Given the description of an element on the screen output the (x, y) to click on. 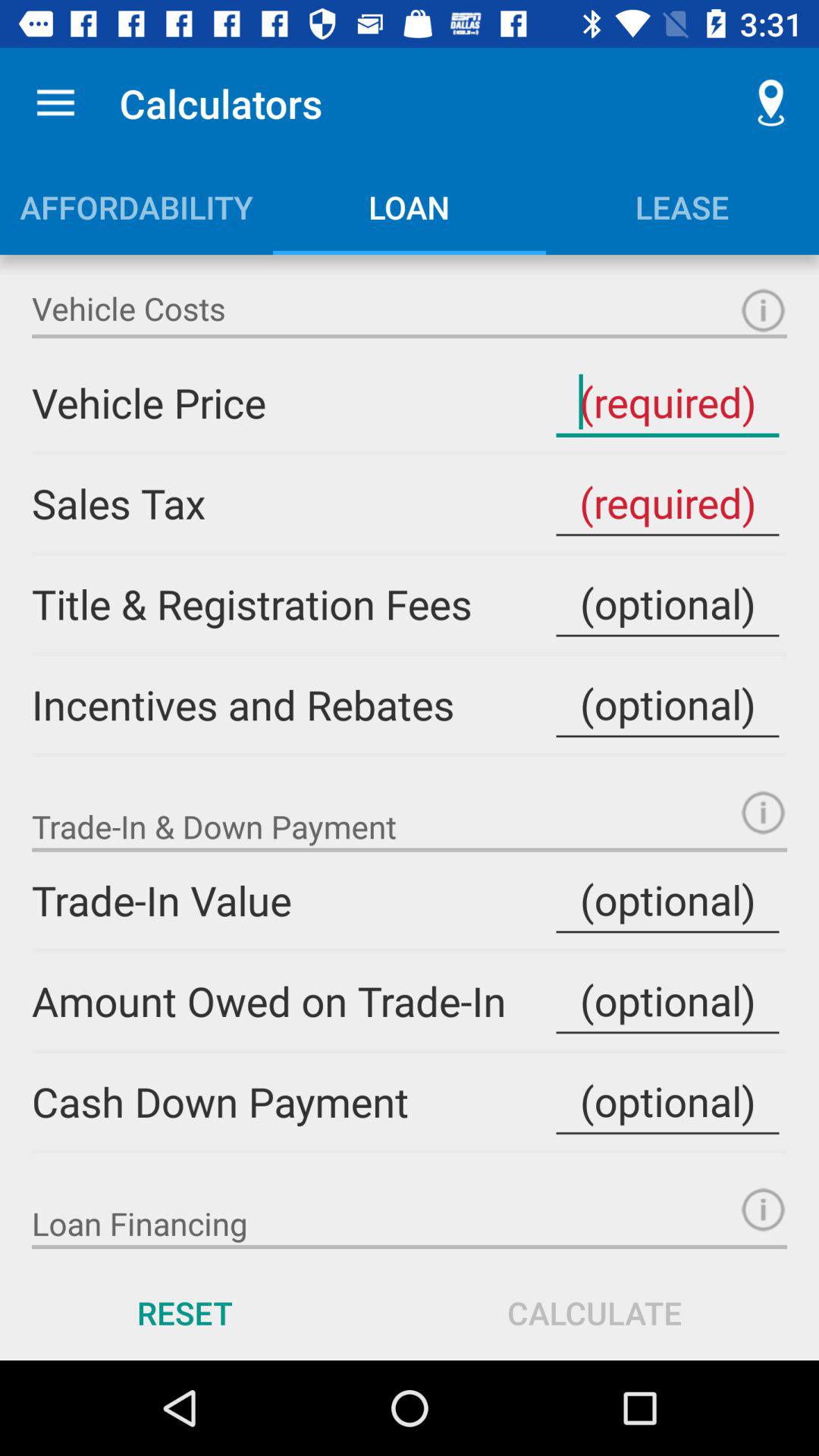
input sales tax (667, 503)
